Given the description of an element on the screen output the (x, y) to click on. 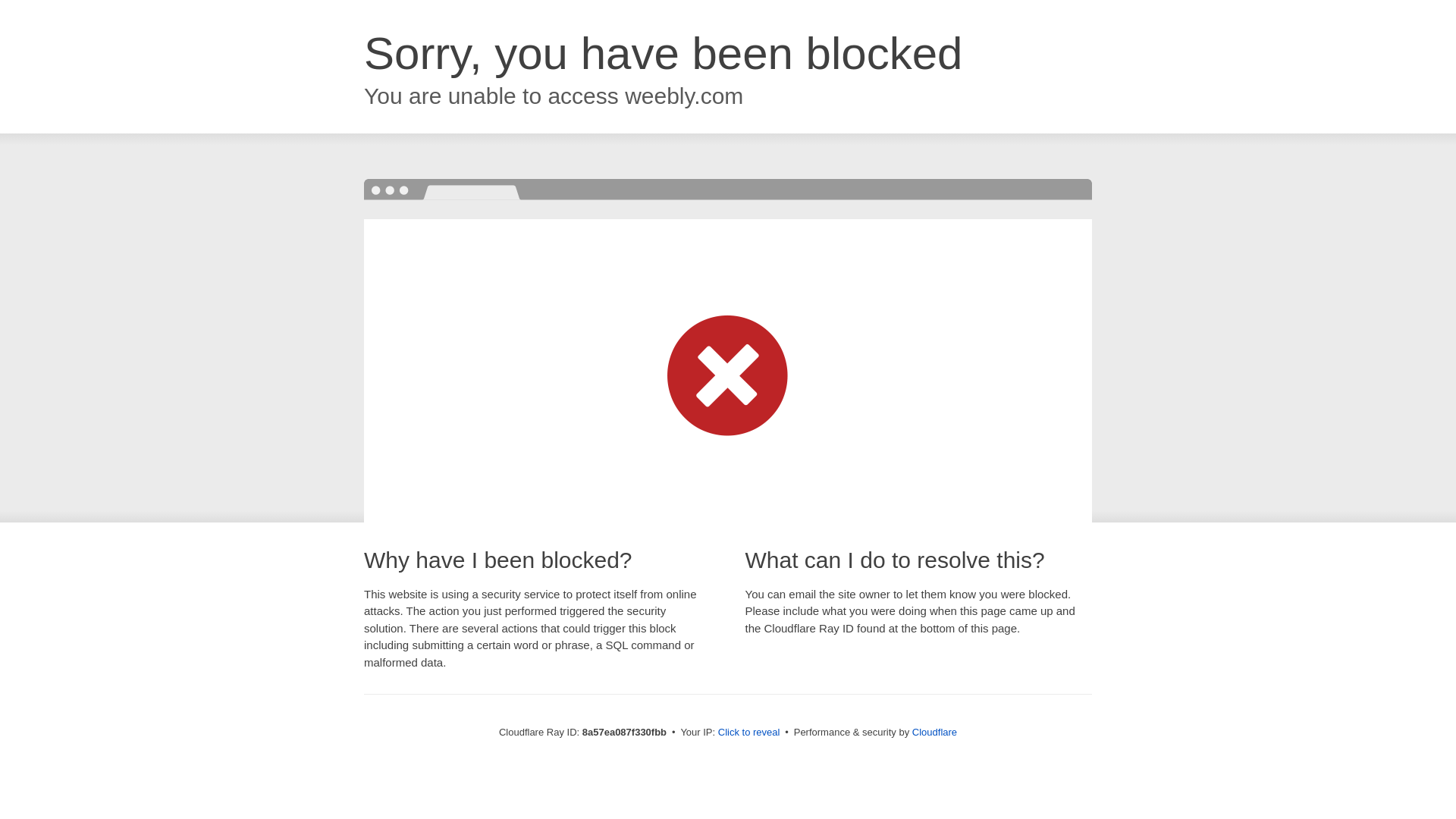
Cloudflare (934, 731)
Click to reveal (748, 732)
